Given the description of an element on the screen output the (x, y) to click on. 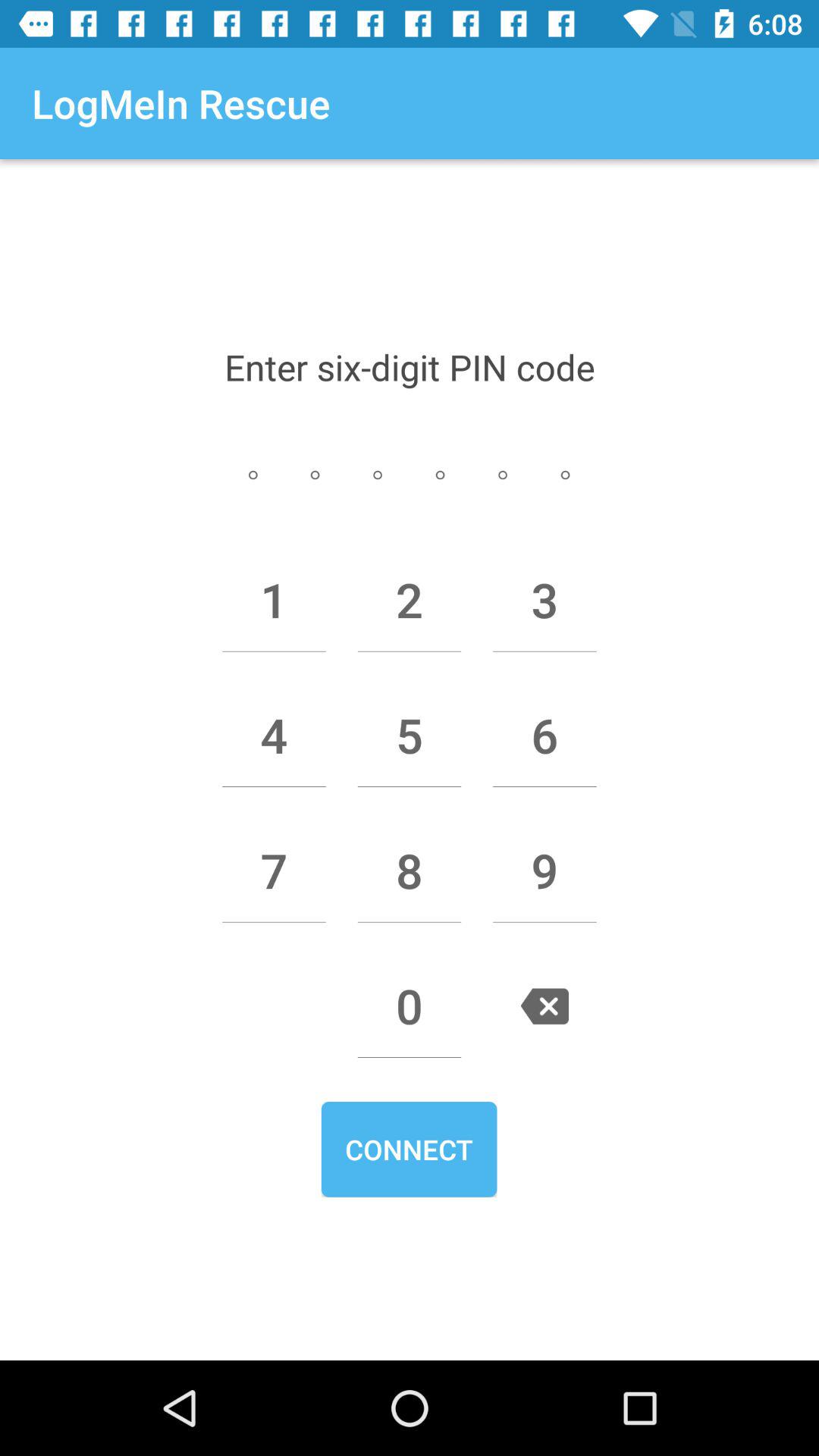
turn on the item next to the 5 (544, 735)
